Given the description of an element on the screen output the (x, y) to click on. 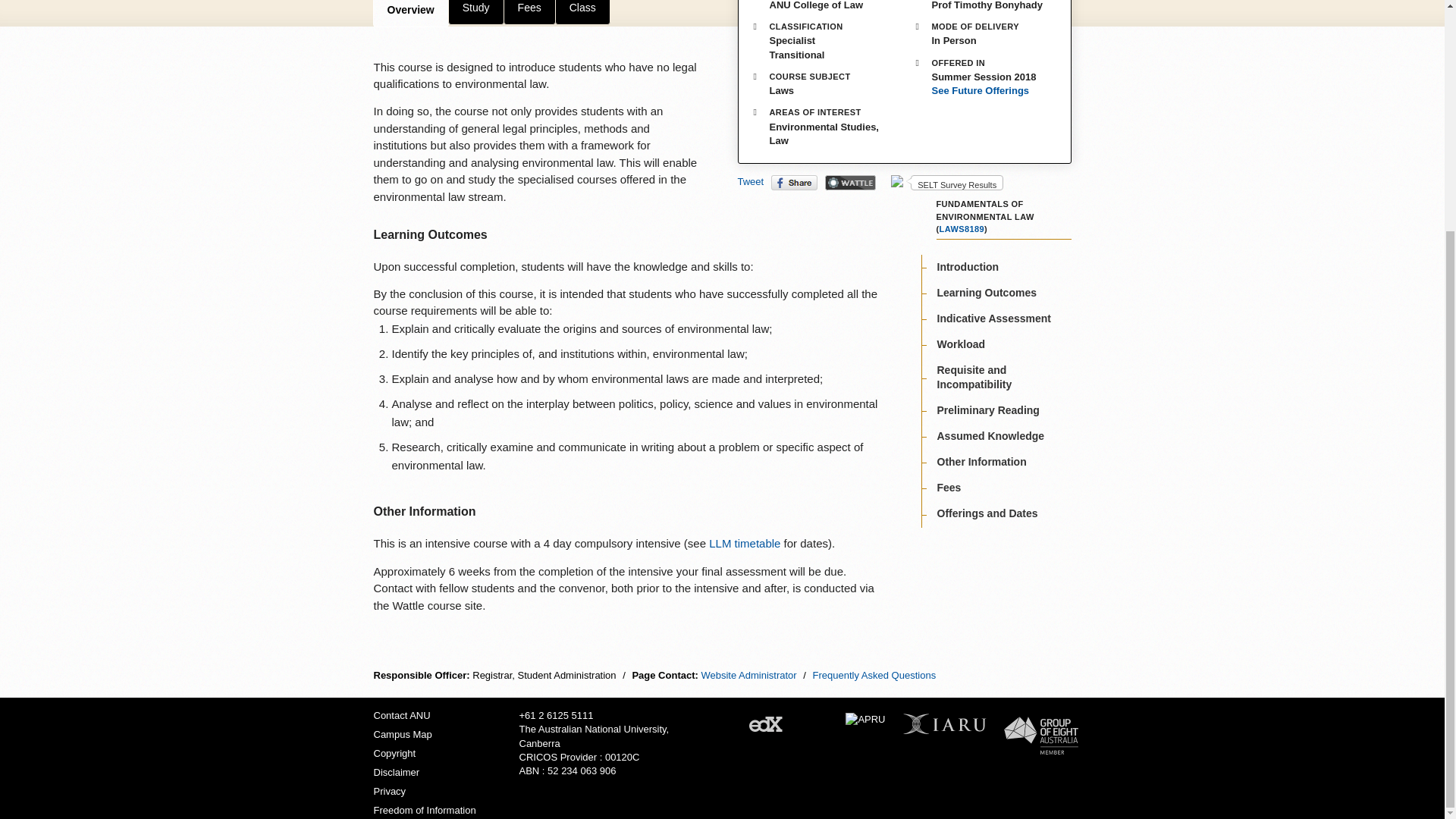
LAWS8189 (961, 228)
Fees (529, 12)
Overview (410, 13)
Learning Outcomes (986, 292)
Class (582, 12)
Wattle Share (850, 182)
Share on Facebook (793, 182)
See Future Offerings (985, 90)
Tweet (749, 181)
Study (475, 12)
Introduction (967, 266)
